Given the description of an element on the screen output the (x, y) to click on. 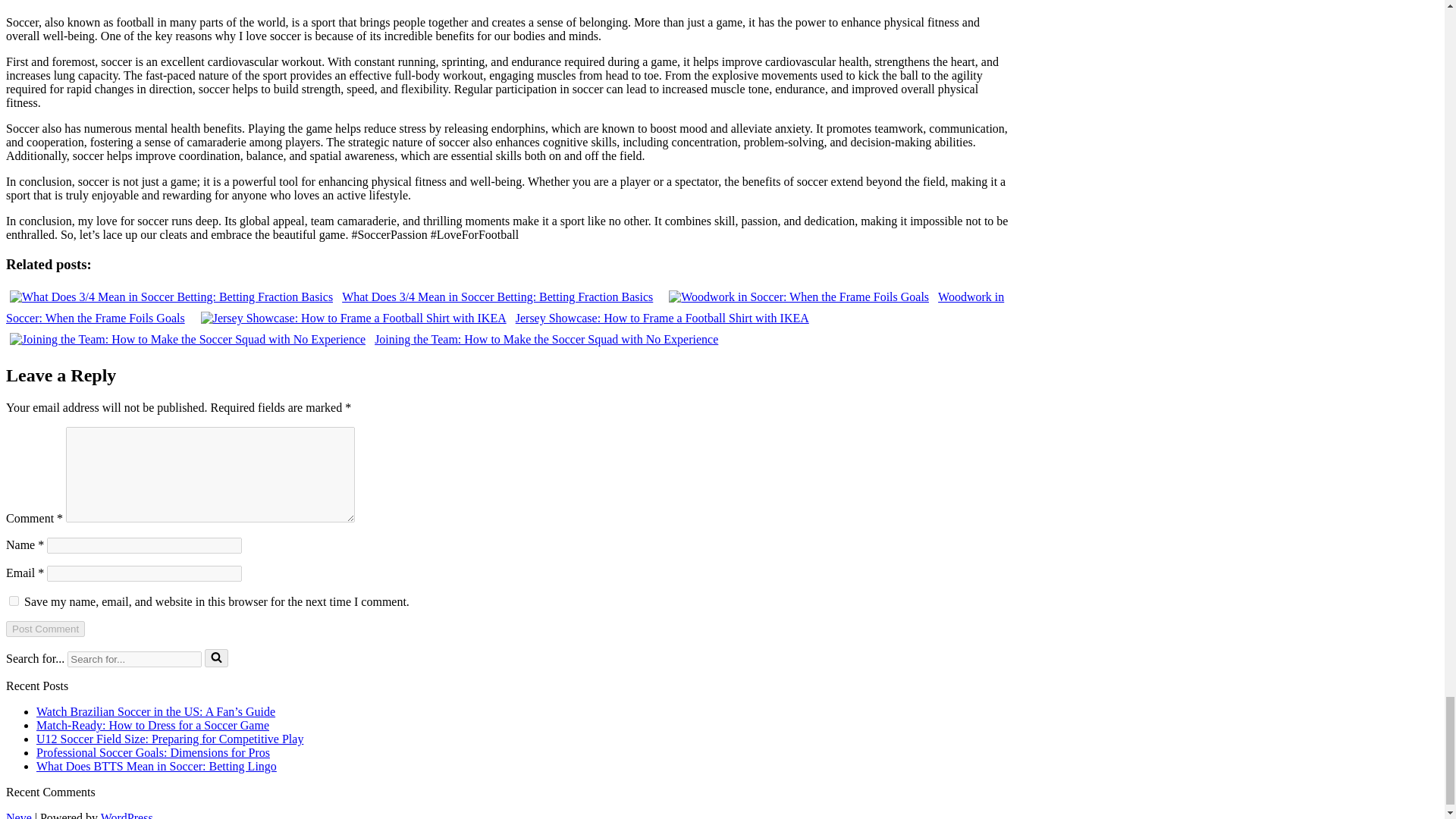
yes (13, 601)
Post Comment (44, 628)
Jersey Showcase: How to Frame a Football Shirt with IKEA (504, 318)
Professional Soccer Goals: Dimensions for Pros (152, 752)
Match-Ready: How to Dress for a Soccer Game (152, 725)
Woodwork in Soccer: When the Frame Foils Goals (504, 307)
Post Comment (44, 628)
U12 Soccer Field Size: Preparing for Competitive Play (169, 738)
Woodwork in Soccer: When the Frame Foils Goals (504, 307)
Jersey Showcase: How to Frame a Football Shirt with IKEA (504, 318)
